Given the description of an element on the screen output the (x, y) to click on. 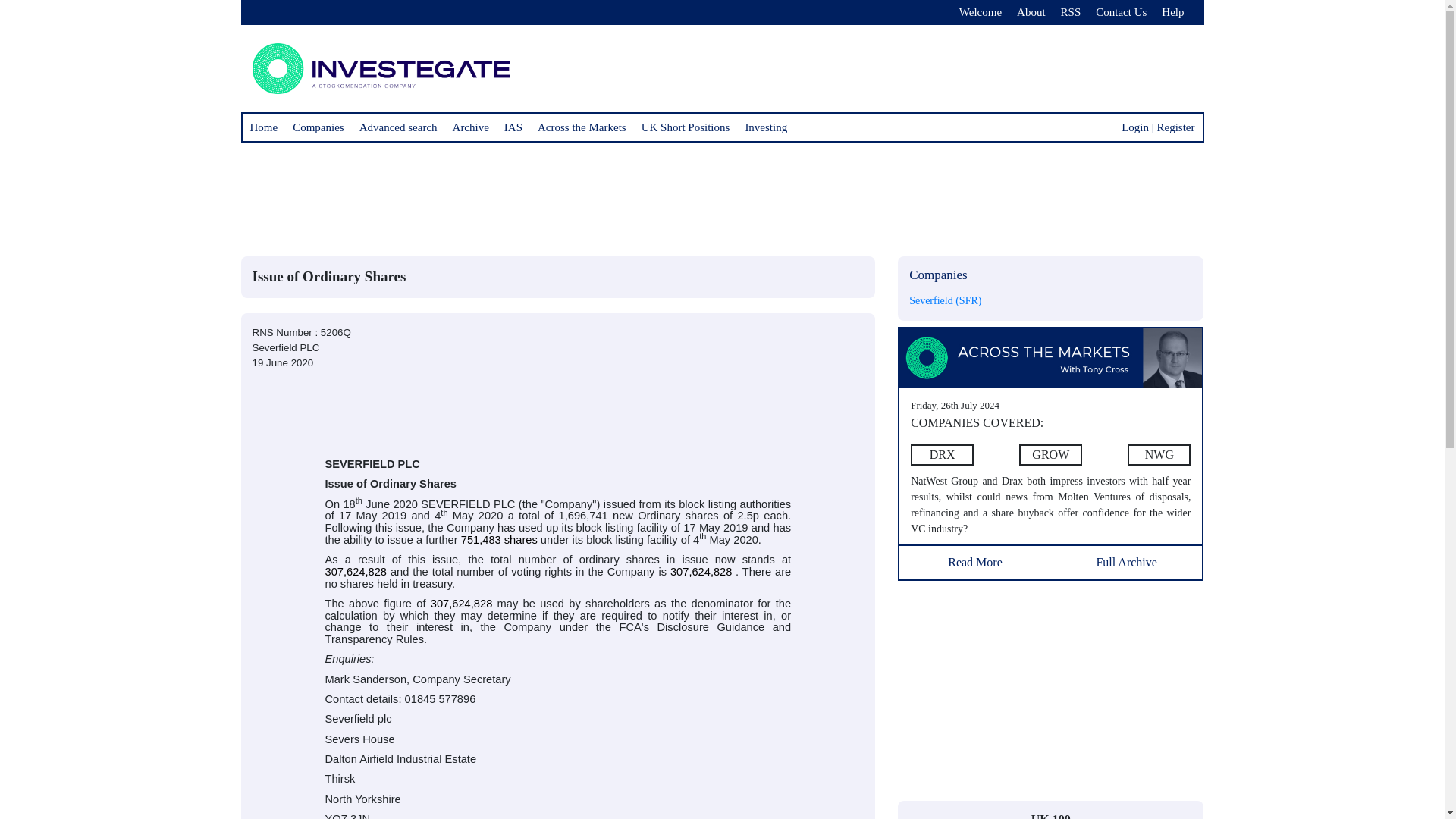
IAS (512, 127)
Across the Markets (581, 127)
DRX (942, 455)
RSS (1070, 12)
UK Short Positions (685, 127)
Contact Us (1120, 12)
GROW (1050, 455)
Read the full Article HERE (1050, 356)
Home (264, 127)
Read the full Article HERE (975, 558)
Read the full Article HERE (1050, 455)
About (1030, 12)
Investing (765, 127)
Companies (318, 127)
See the full archive HERE (1126, 558)
